Given the description of an element on the screen output the (x, y) to click on. 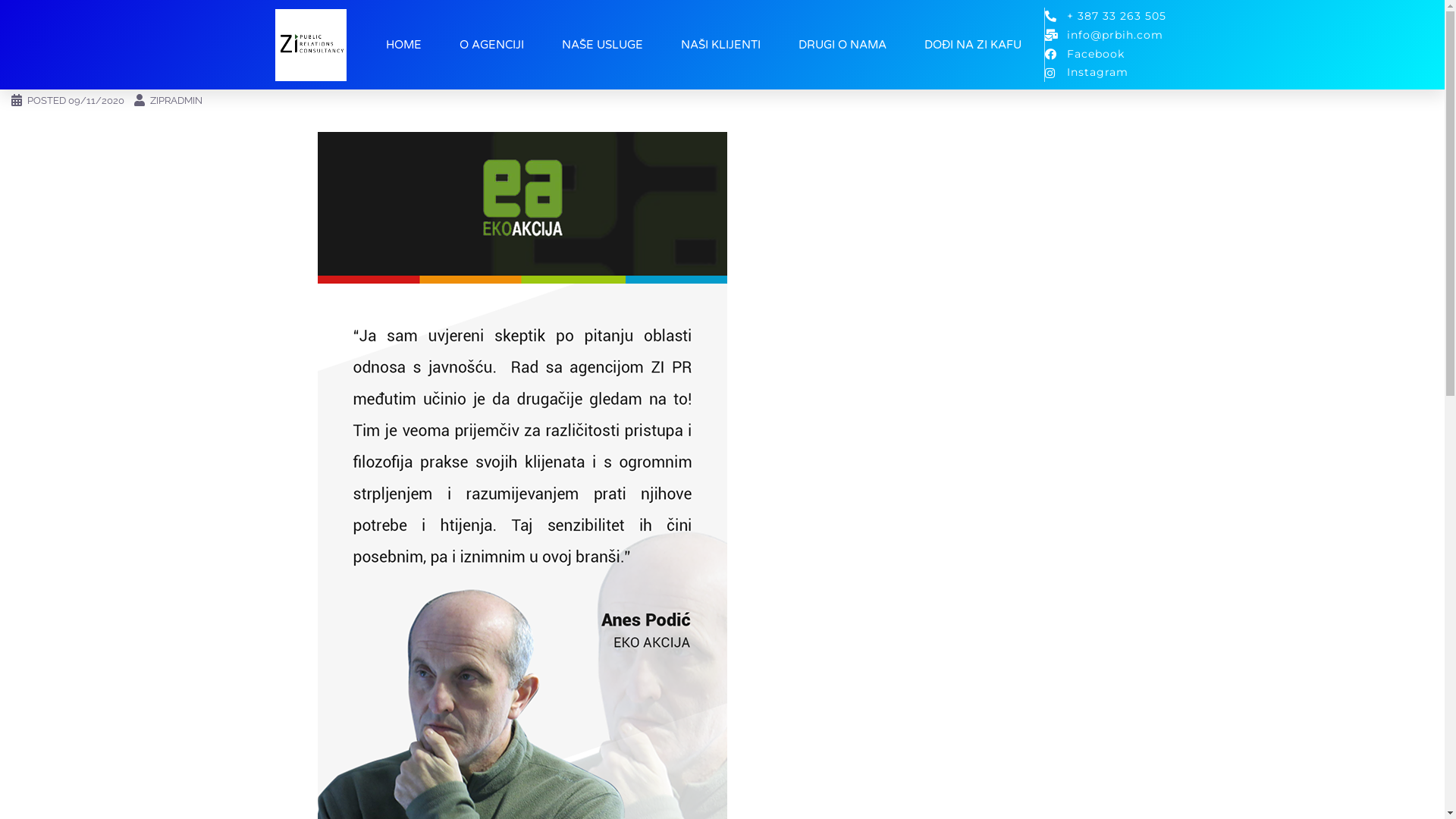
09/11/2020 Element type: text (96, 100)
DRUGI O NAMA Element type: text (69, 28)
Instagram Element type: text (1106, 72)
O AGENCIJI Element type: text (491, 44)
HOME Element type: text (403, 44)
DRUGI O NAMA Element type: text (842, 44)
Facebook Element type: text (1106, 54)
ZIPRADMIN Element type: text (176, 100)
